Given the description of an element on the screen output the (x, y) to click on. 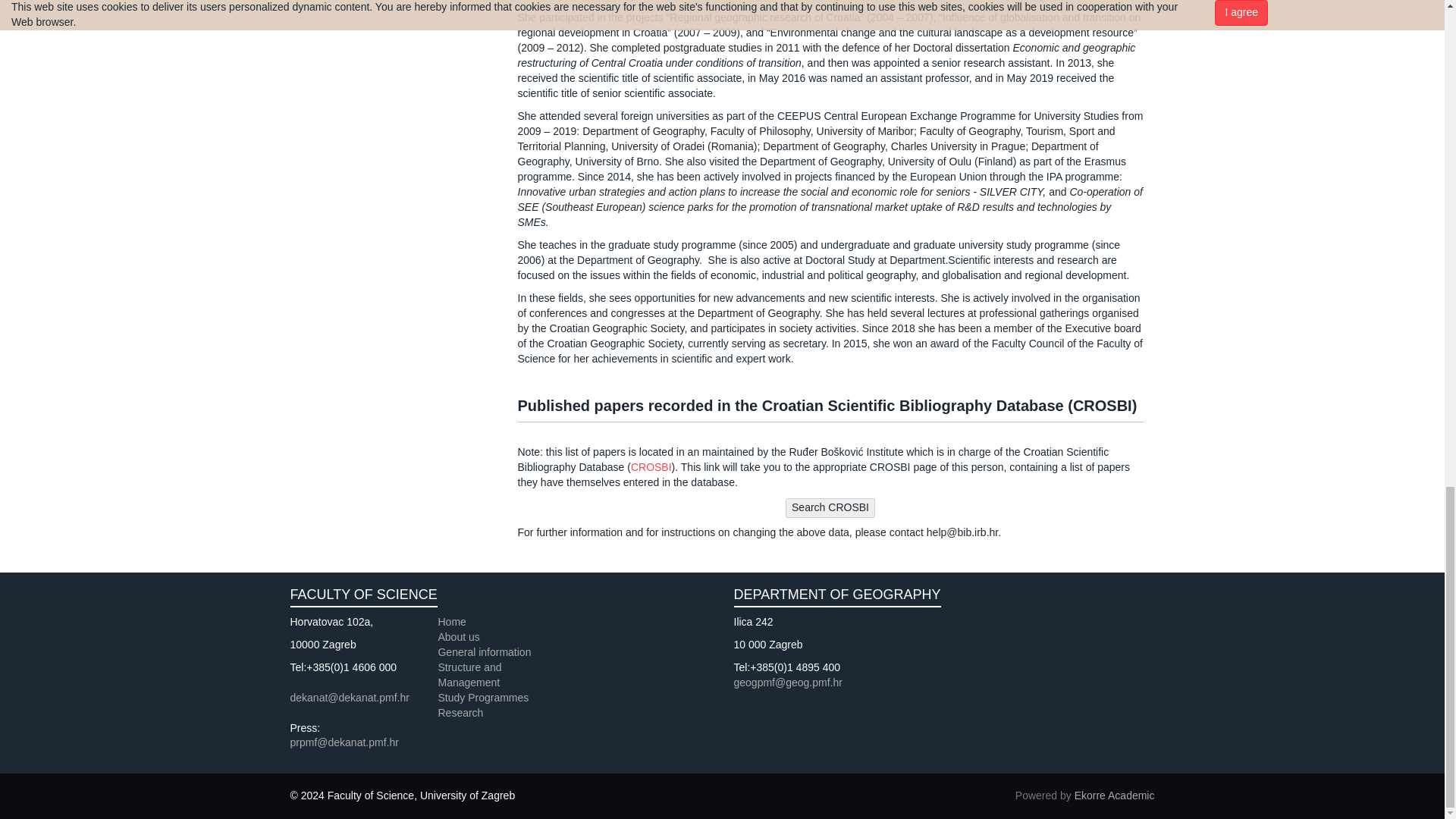
Search CROSBI (830, 507)
